Given the description of an element on the screen output the (x, y) to click on. 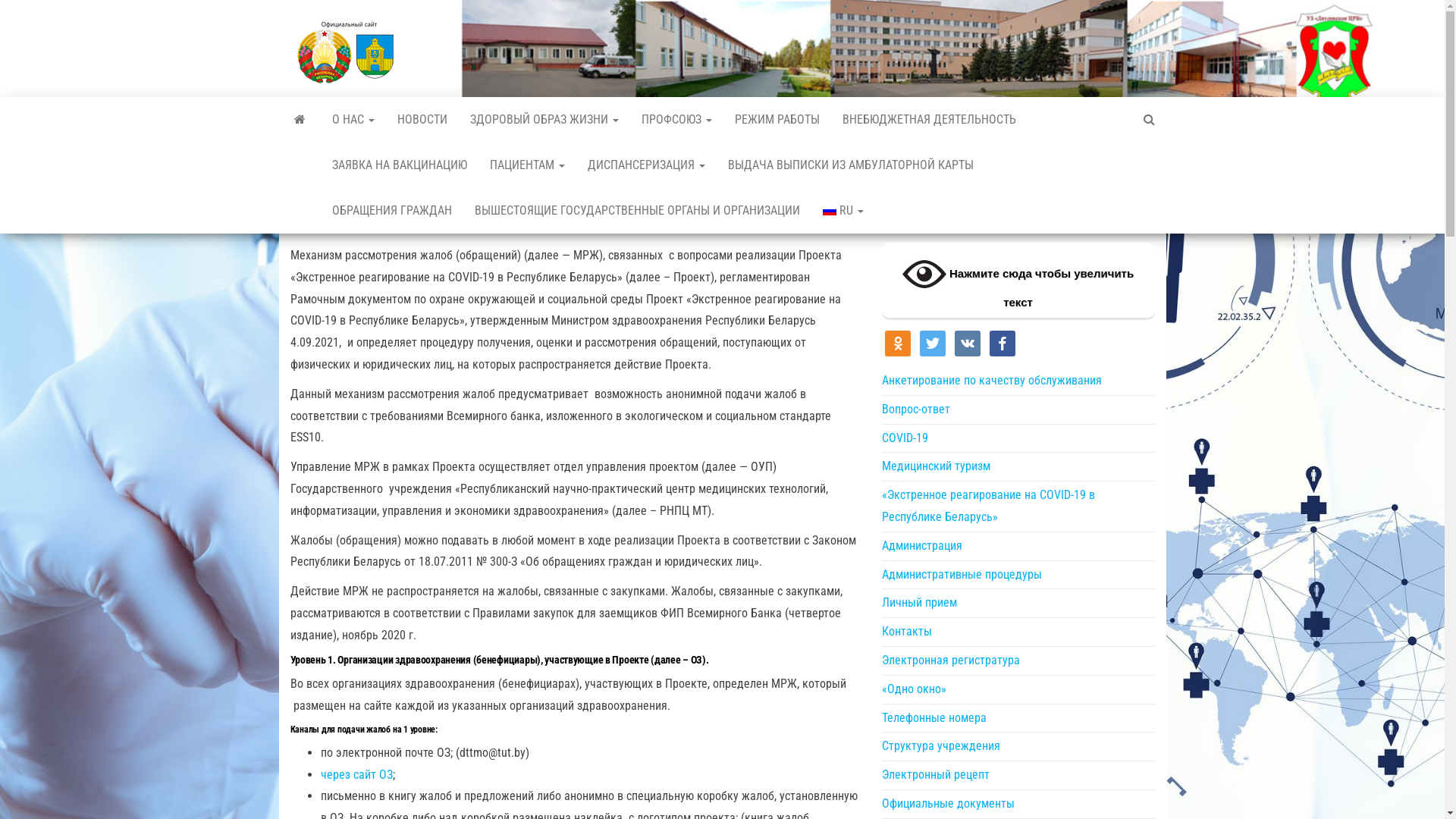
odnoklassniki Element type: text (897, 342)
COVID-19 Element type: text (904, 437)
facebook Element type: text (1001, 342)
RU Element type: text (843, 210)
vkontakte Element type: text (966, 342)
twitter Element type: text (931, 342)
